Given the description of an element on the screen output the (x, y) to click on. 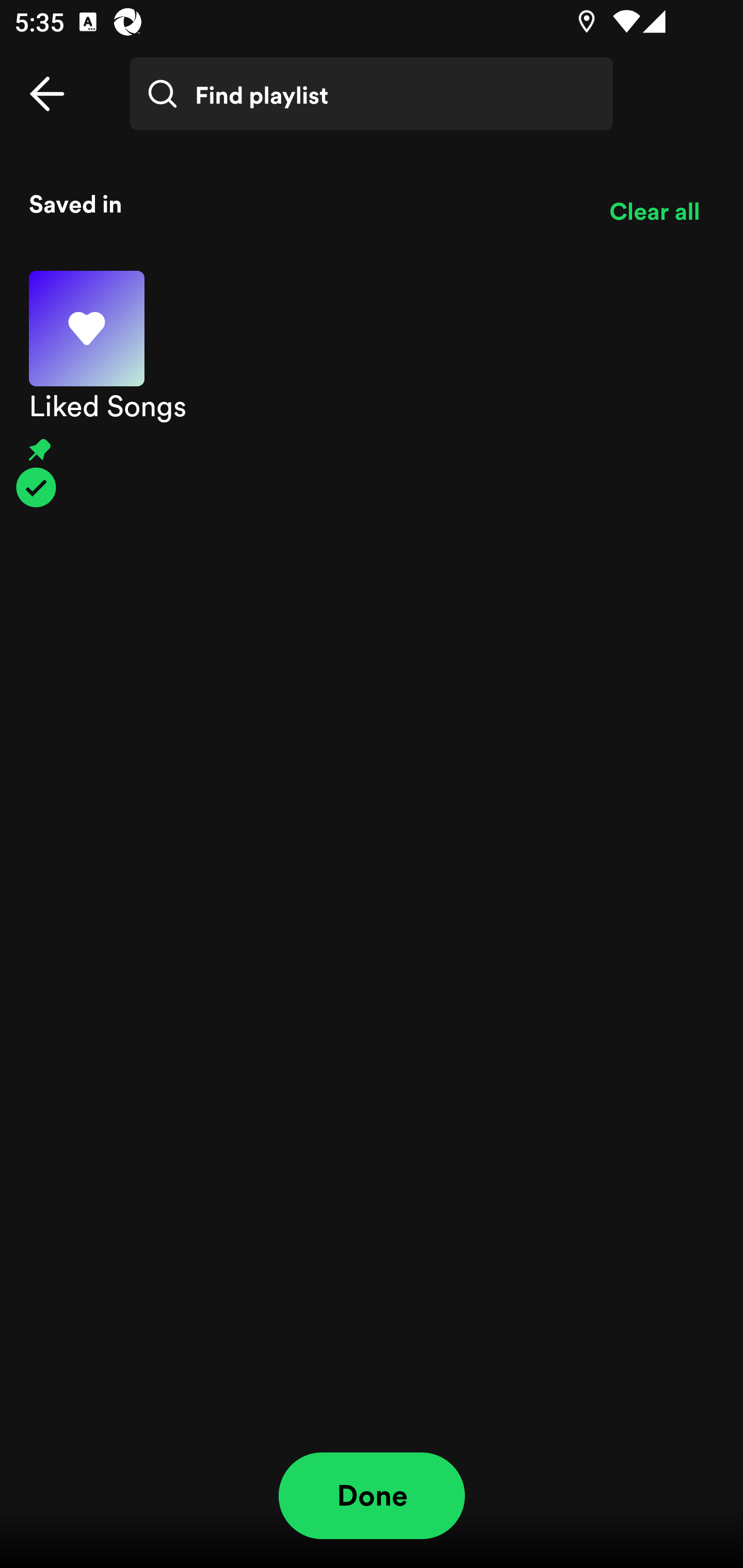
Back (46, 93)
Find playlist (371, 94)
Saved in (304, 203)
Clear all (654, 211)
Liked Songs Pinned (371, 389)
Done (371, 1495)
